Given the description of an element on the screen output the (x, y) to click on. 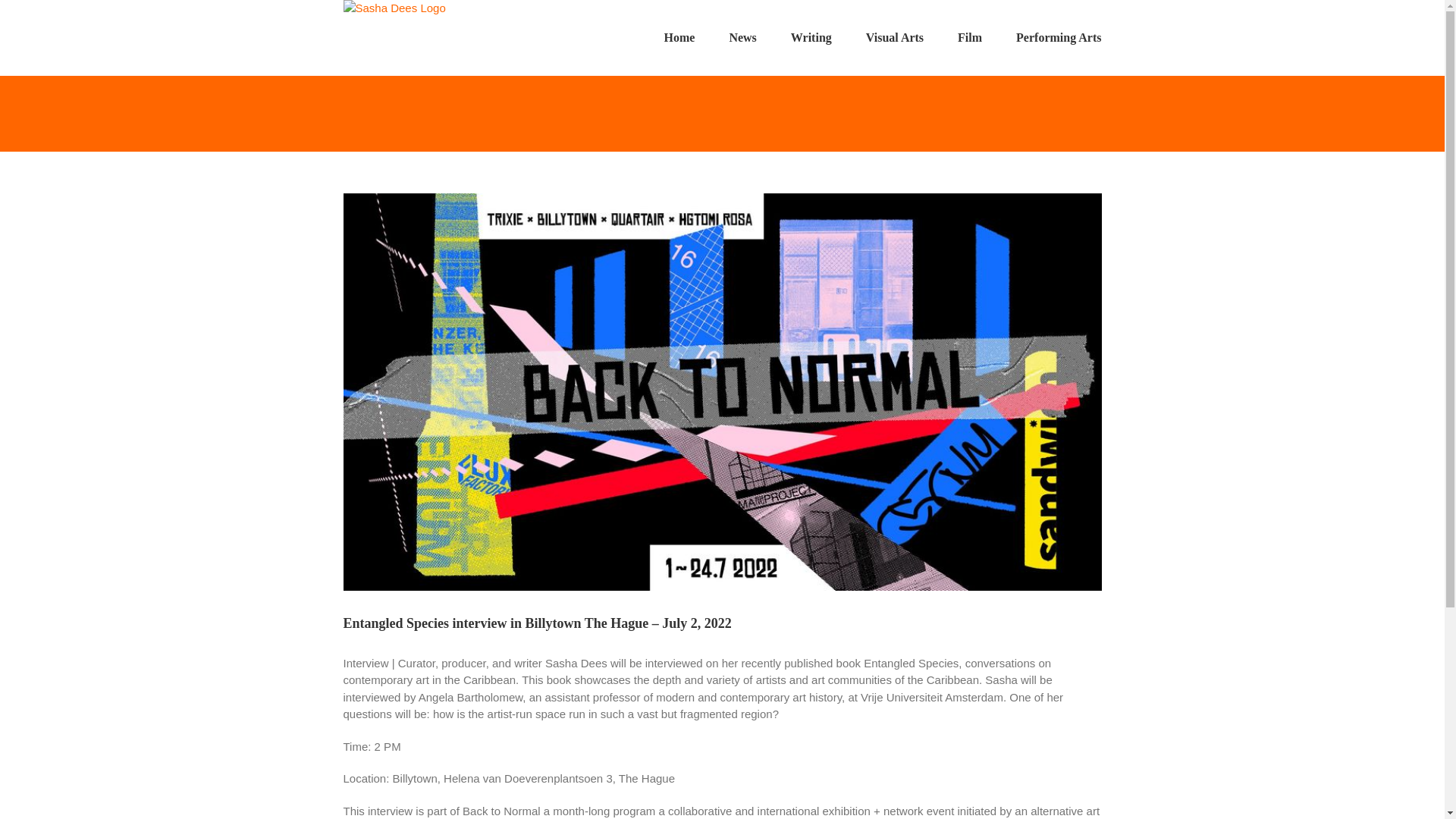
Performing Arts (1058, 38)
